Given the description of an element on the screen output the (x, y) to click on. 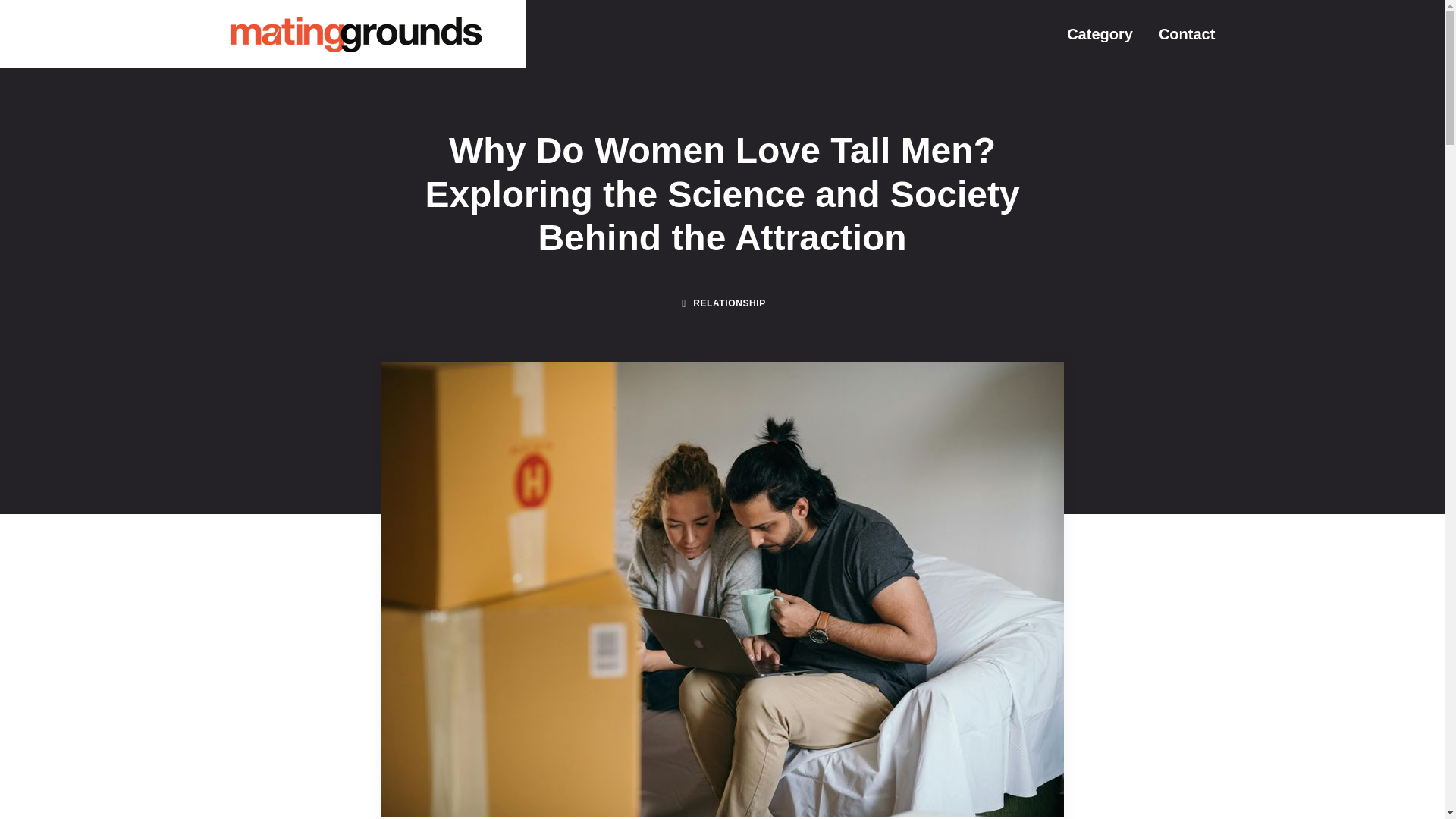
Contact (1186, 33)
RELATIONSHIP (729, 303)
Category (1099, 33)
